Given the description of an element on the screen output the (x, y) to click on. 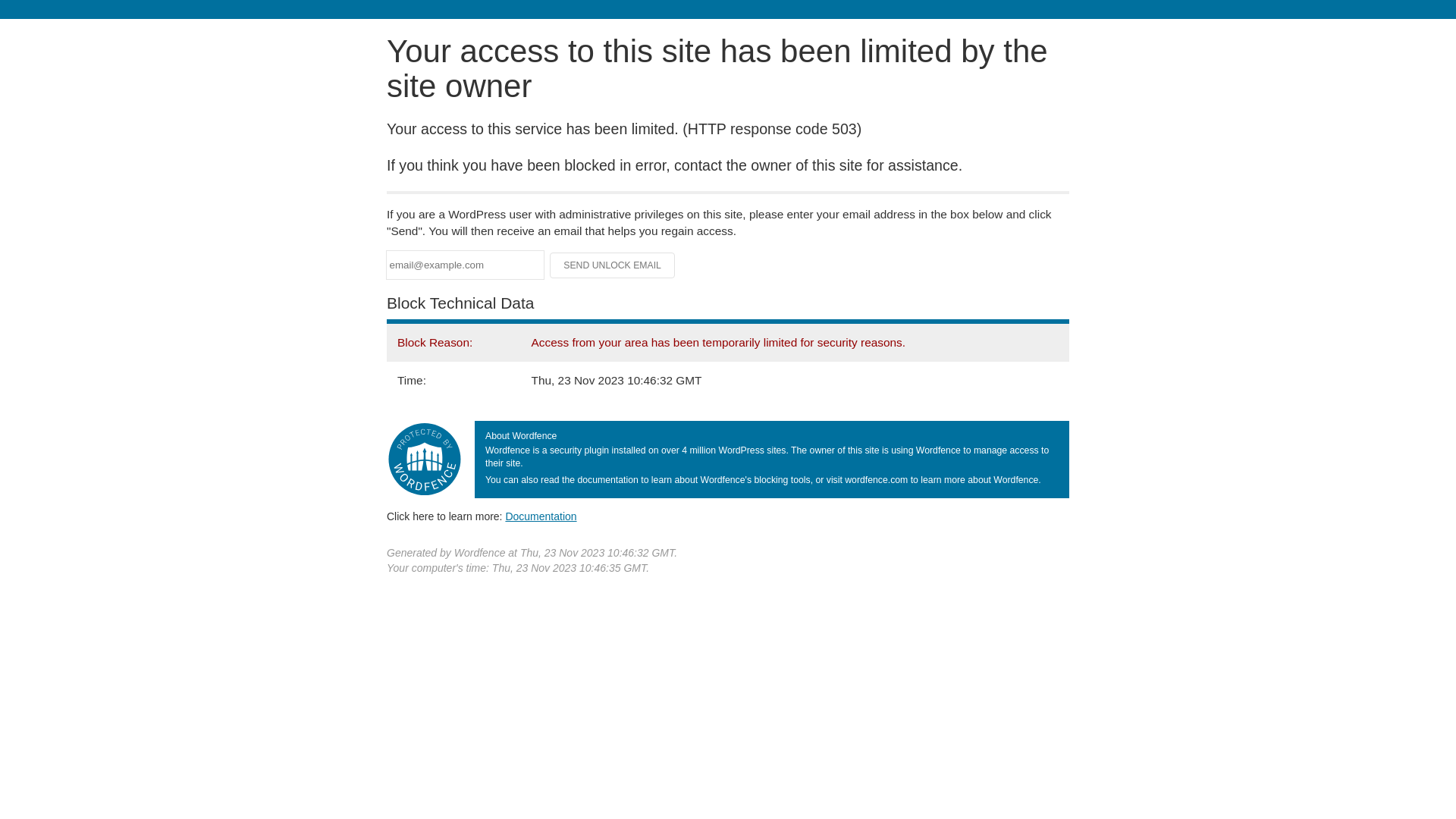
Send Unlock Email Element type: text (612, 265)
Documentation Element type: text (540, 516)
